Given the description of an element on the screen output the (x, y) to click on. 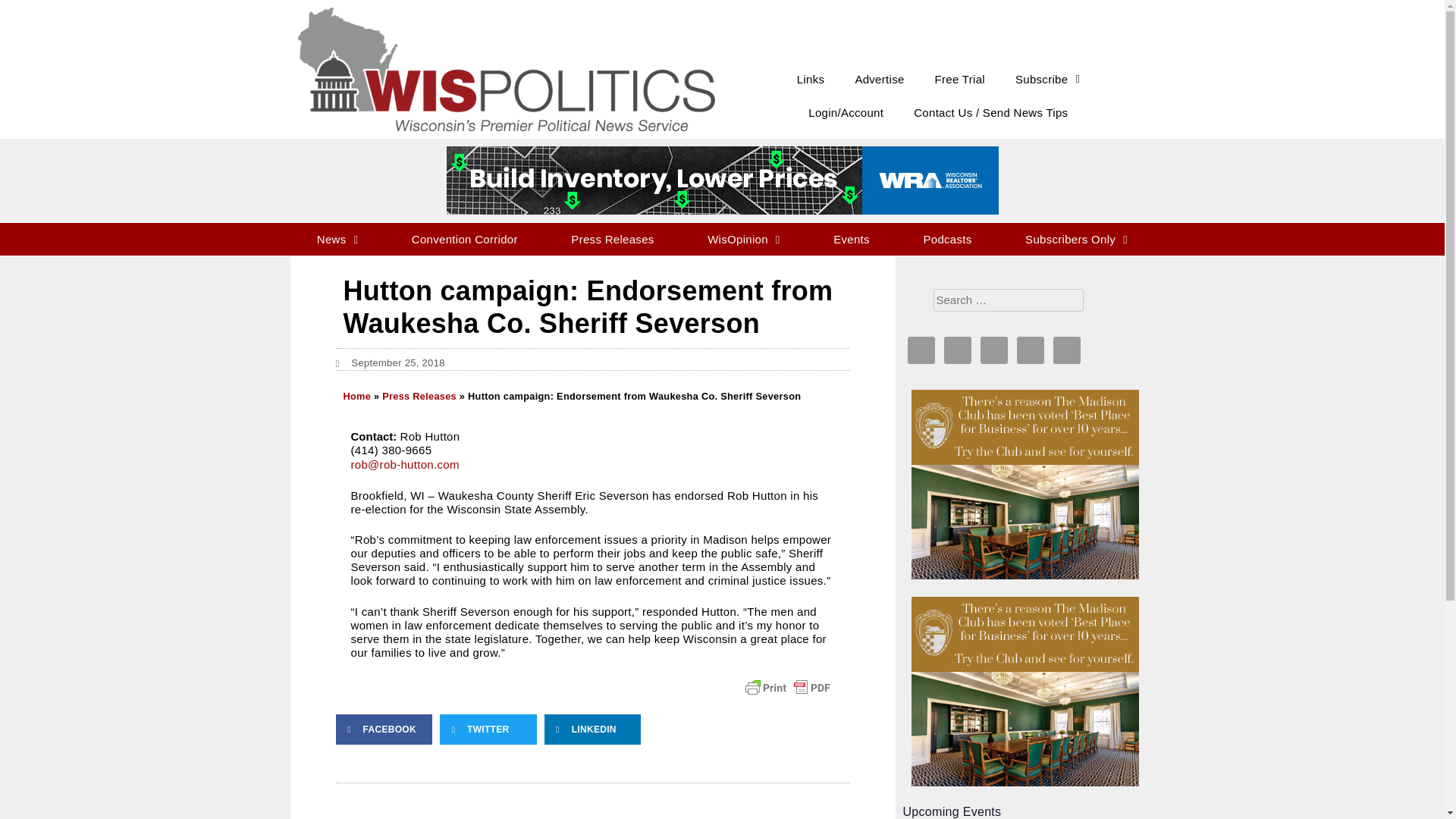
Podcasts (947, 239)
Convention Corridor (464, 239)
Events (851, 239)
Subscribers Only (1076, 239)
Free Trial (960, 79)
Press Releases (612, 239)
News (336, 239)
Links (810, 79)
Advertise (879, 79)
WisOpinion (743, 239)
Subscribe (1047, 79)
